Given the description of an element on the screen output the (x, y) to click on. 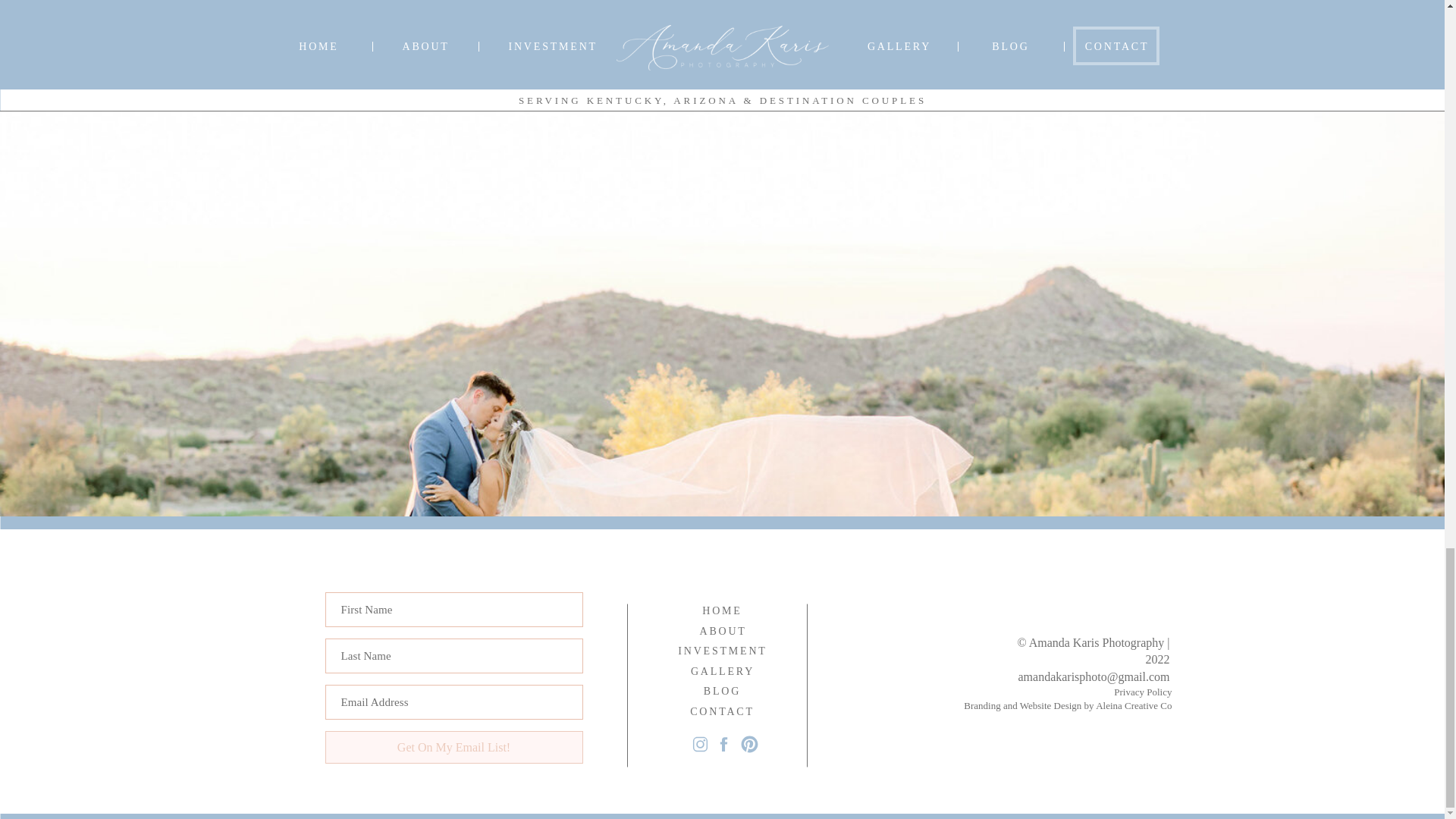
GALLERY (722, 671)
ABOUT (721, 631)
INVESTMENT (723, 650)
Get On My Email List! (453, 747)
See All Blogs (722, 154)
HOME (721, 610)
